Given the description of an element on the screen output the (x, y) to click on. 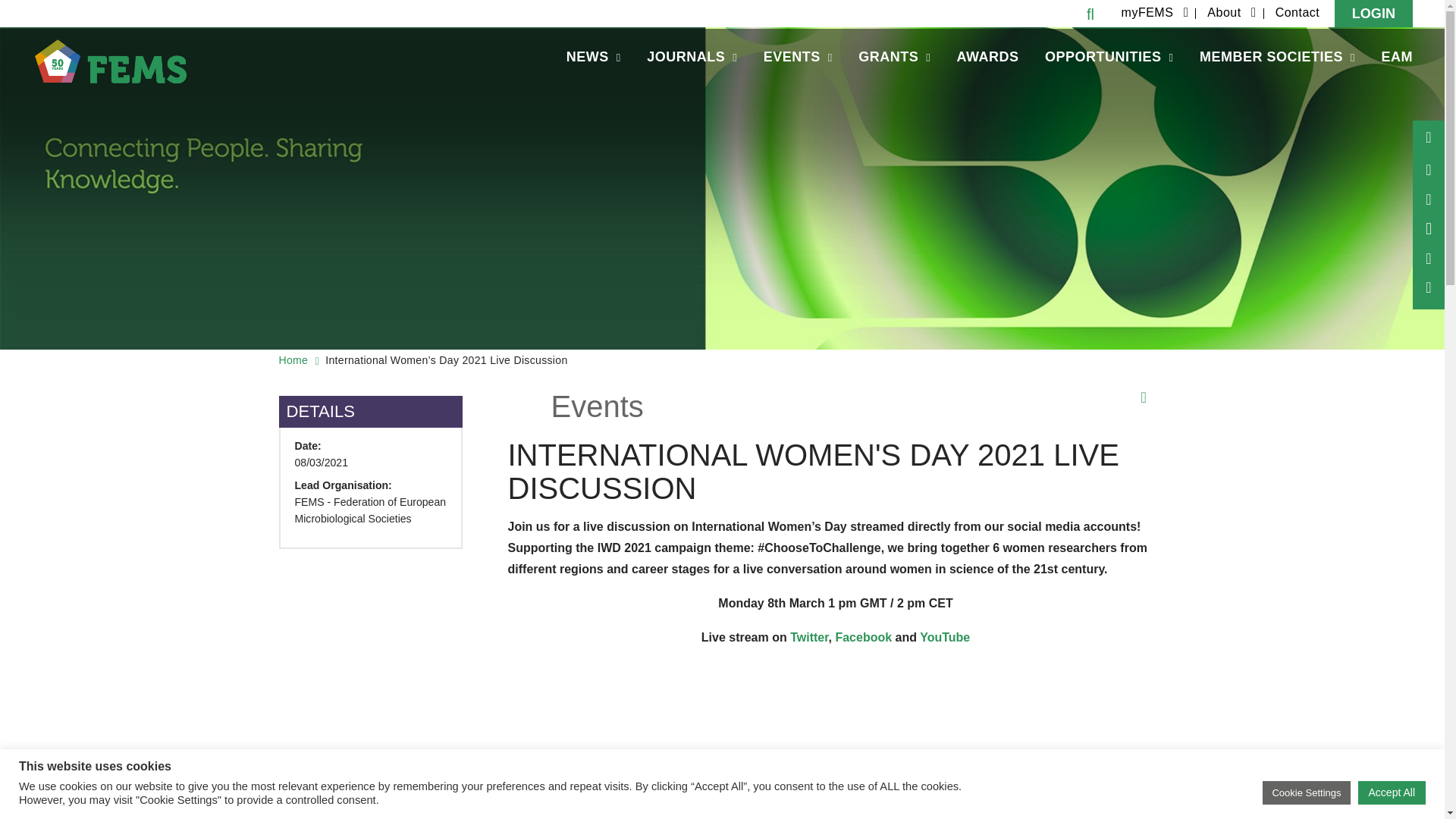
NEWS (592, 56)
OPPORTUNITIES (1109, 56)
EVENTS (798, 56)
AWARDS (987, 56)
GRANTS (894, 56)
JOURNALS (691, 56)
